Given the description of an element on the screen output the (x, y) to click on. 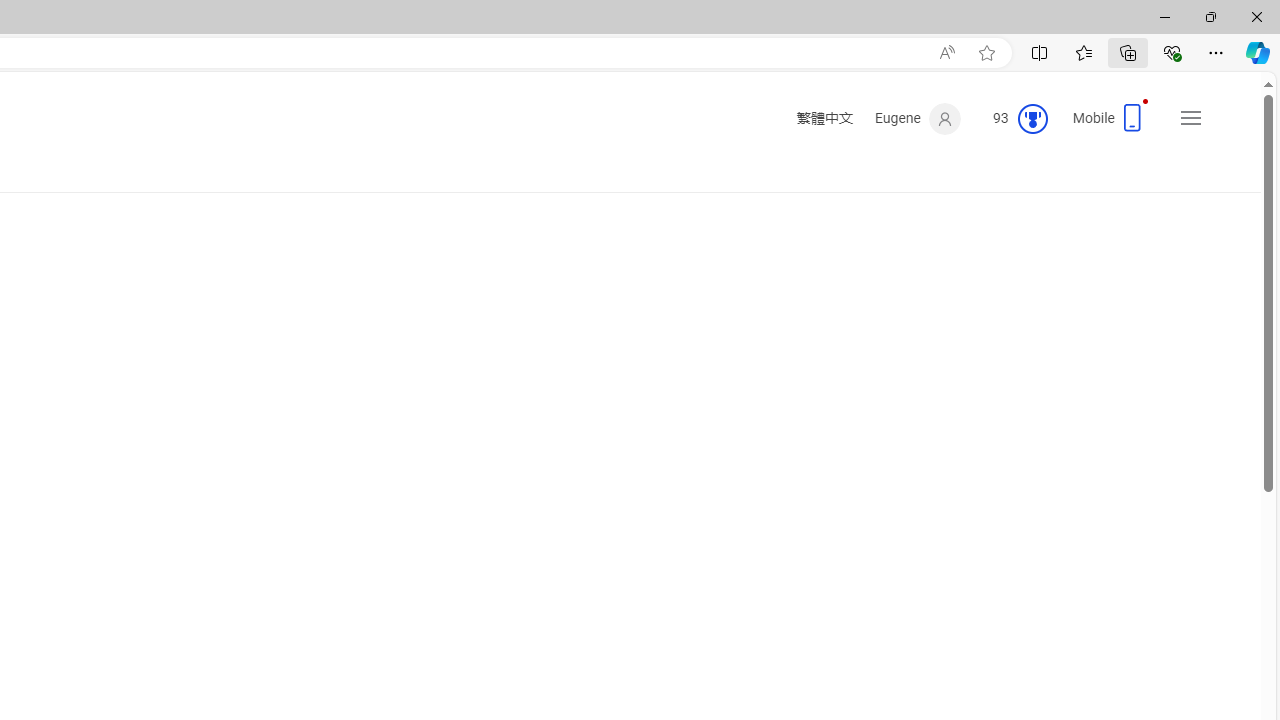
Class: medal-circled (1032, 118)
